Given the description of an element on the screen output the (x, y) to click on. 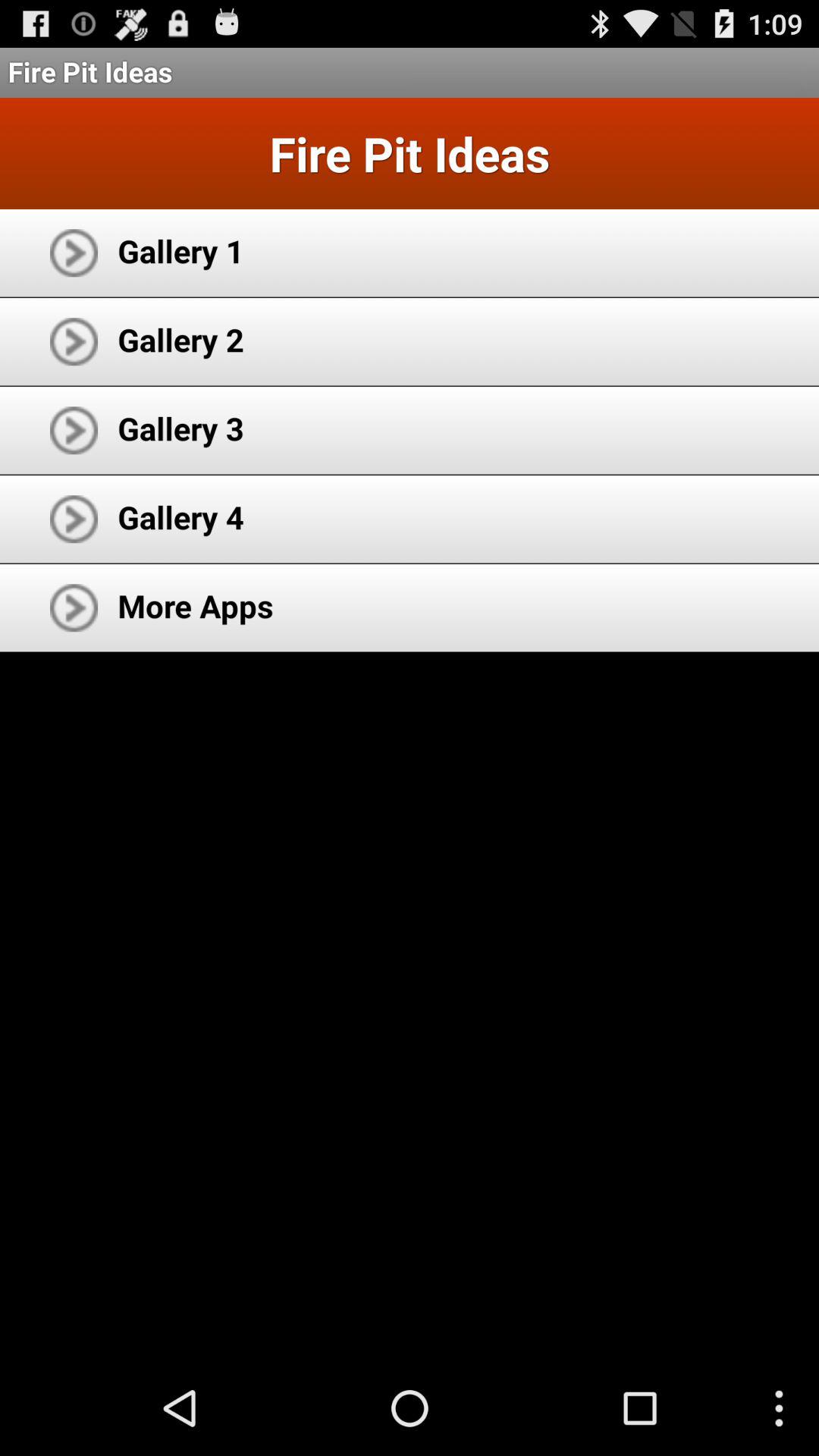
scroll to the gallery 4 item (180, 516)
